Given the description of an element on the screen output the (x, y) to click on. 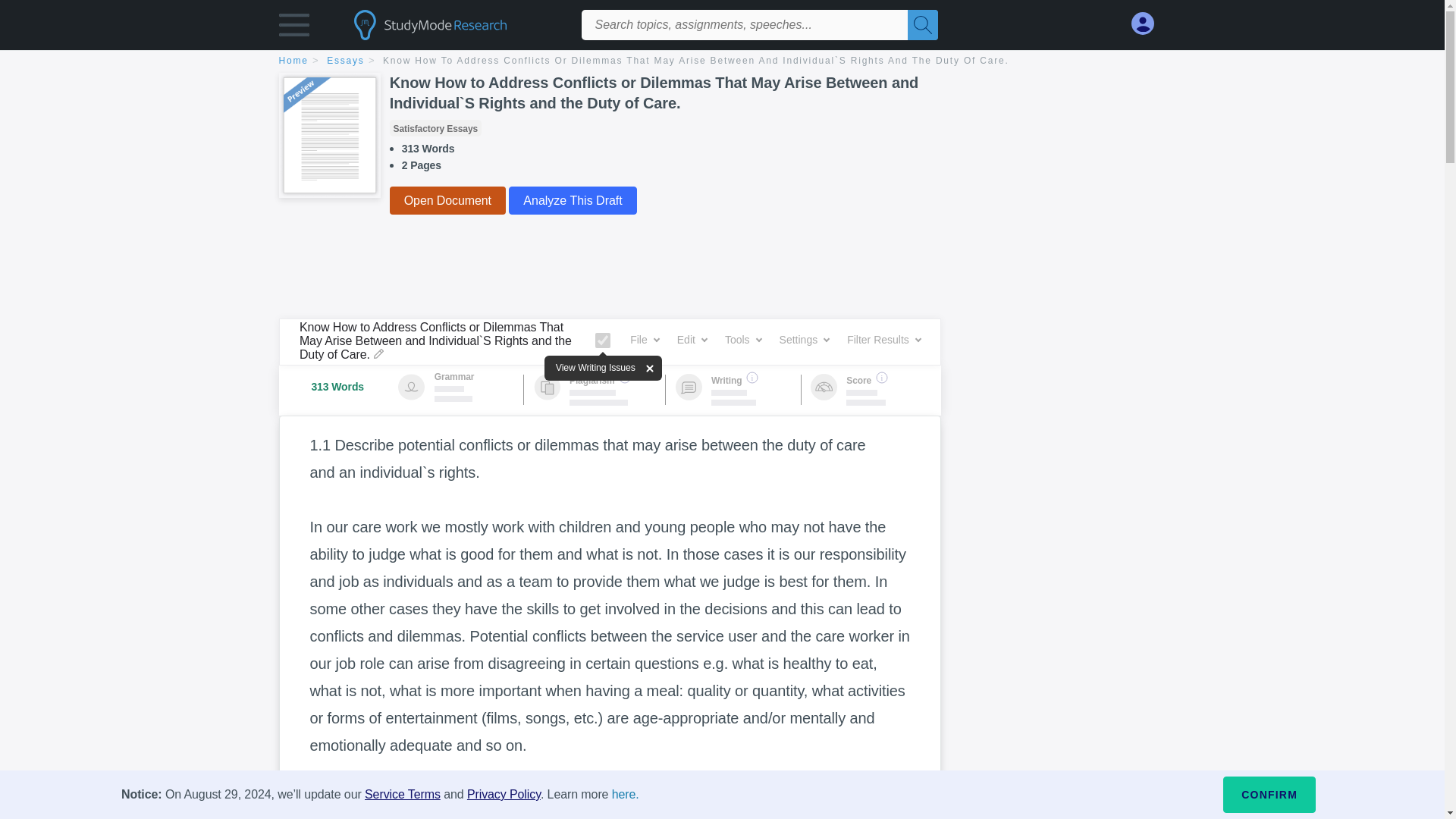
studymode logo (456, 24)
Essays (353, 60)
Settings (803, 339)
Tools (743, 339)
Edit (691, 339)
File (644, 339)
Analyze This Draft (572, 200)
on (602, 340)
Open Document (447, 200)
Filter Results (883, 339)
